Given the description of an element on the screen output the (x, y) to click on. 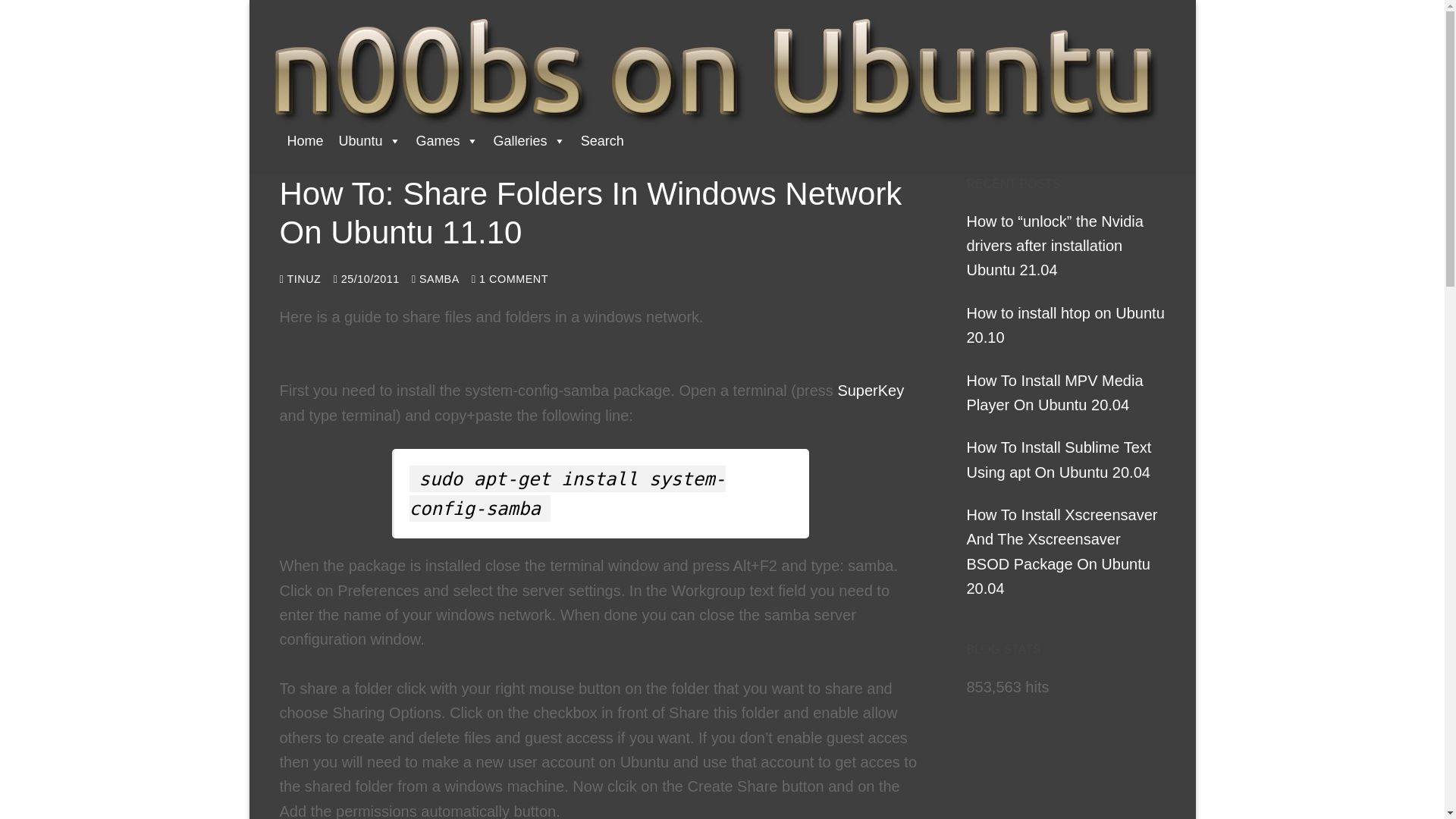
Games (447, 141)
Galleries (529, 141)
Home (304, 141)
Search (602, 141)
Ubuntu (370, 141)
